Given the description of an element on the screen output the (x, y) to click on. 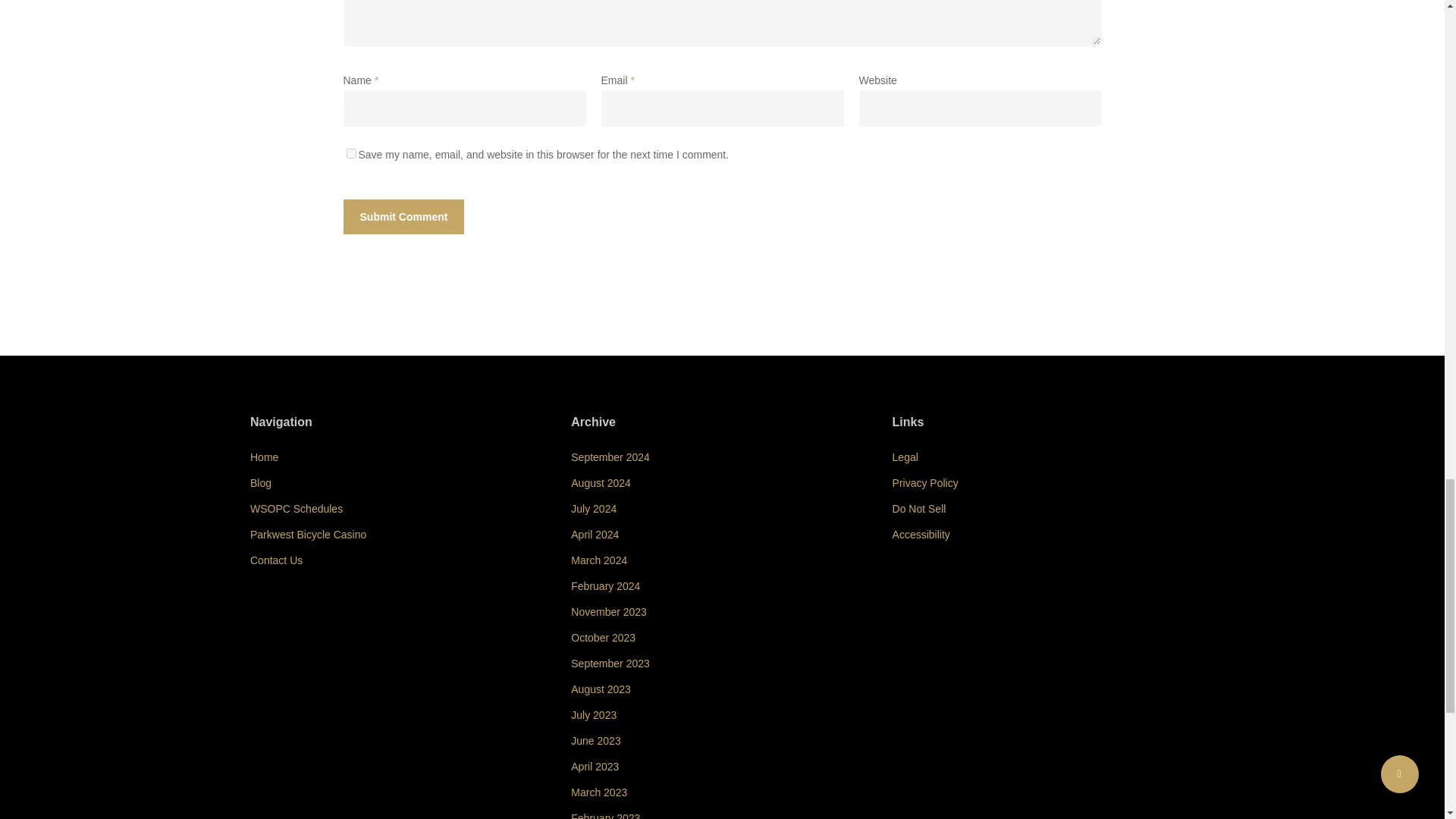
Submit Comment (403, 216)
Home (400, 456)
WSOPC Schedules (400, 508)
Submit Comment (403, 216)
yes (350, 153)
Parkwest Bicycle Casino (400, 534)
Blog (400, 483)
